Given the description of an element on the screen output the (x, y) to click on. 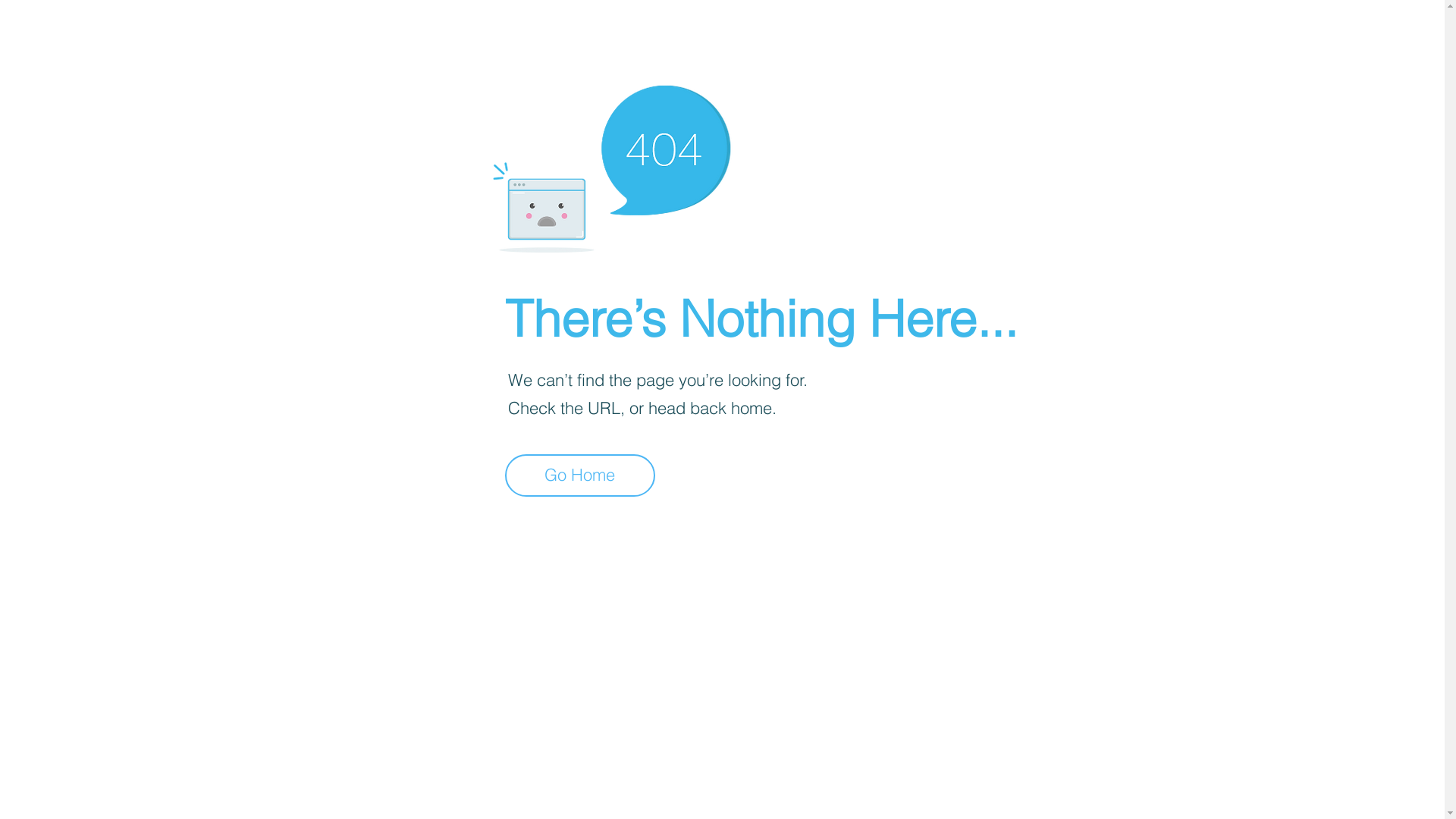
404-icon_2.png Element type: hover (610, 164)
Go Home Element type: text (580, 475)
